Given the description of an element on the screen output the (x, y) to click on. 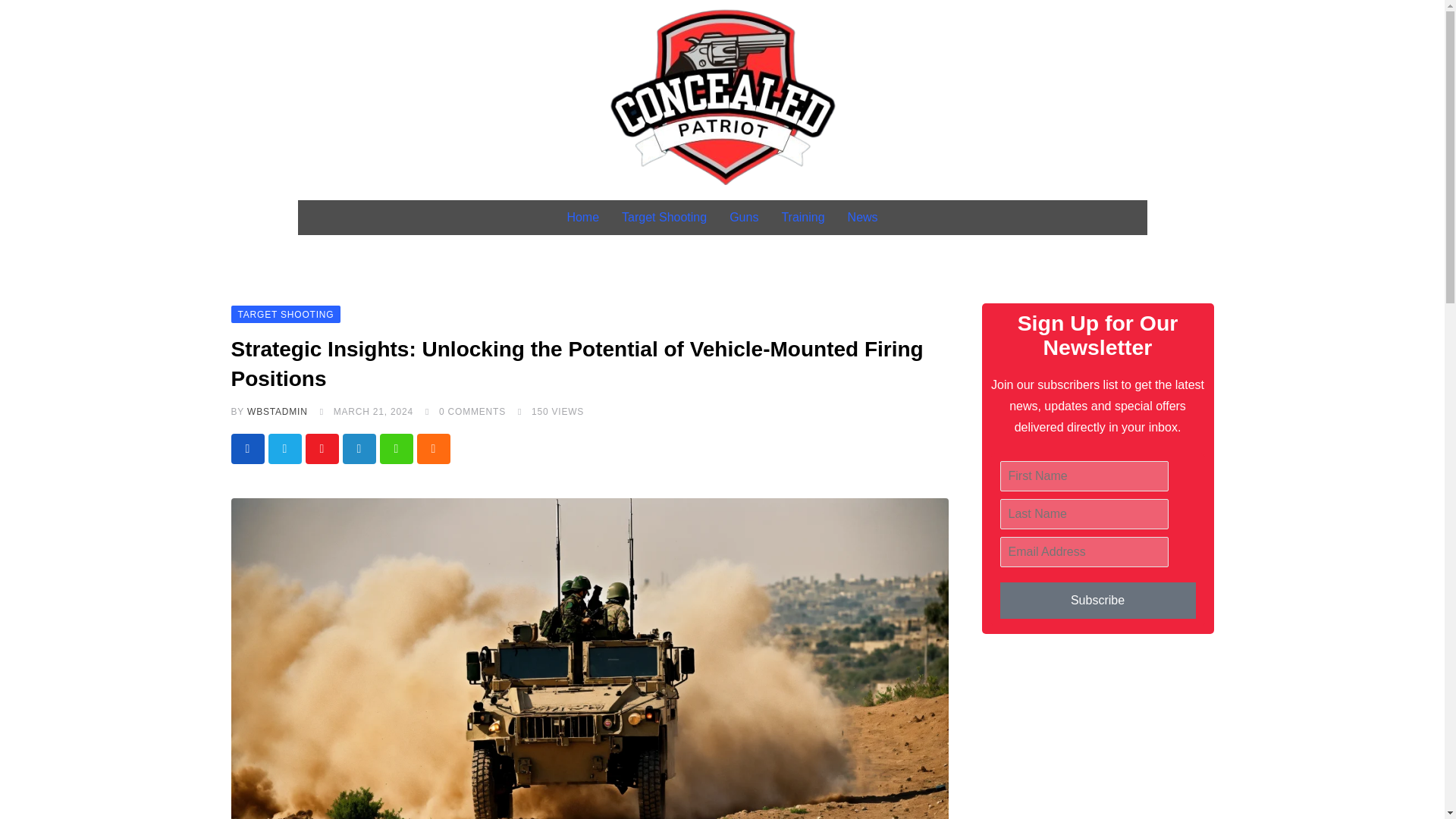
News (862, 217)
Subscribe (1096, 600)
WBSTADMIN (277, 411)
Target Shooting (663, 217)
Training (802, 217)
Subscribe (1096, 600)
Posts by wbstadmin (277, 411)
TARGET SHOOTING (285, 313)
Home (582, 217)
Guns (743, 217)
